Given the description of an element on the screen output the (x, y) to click on. 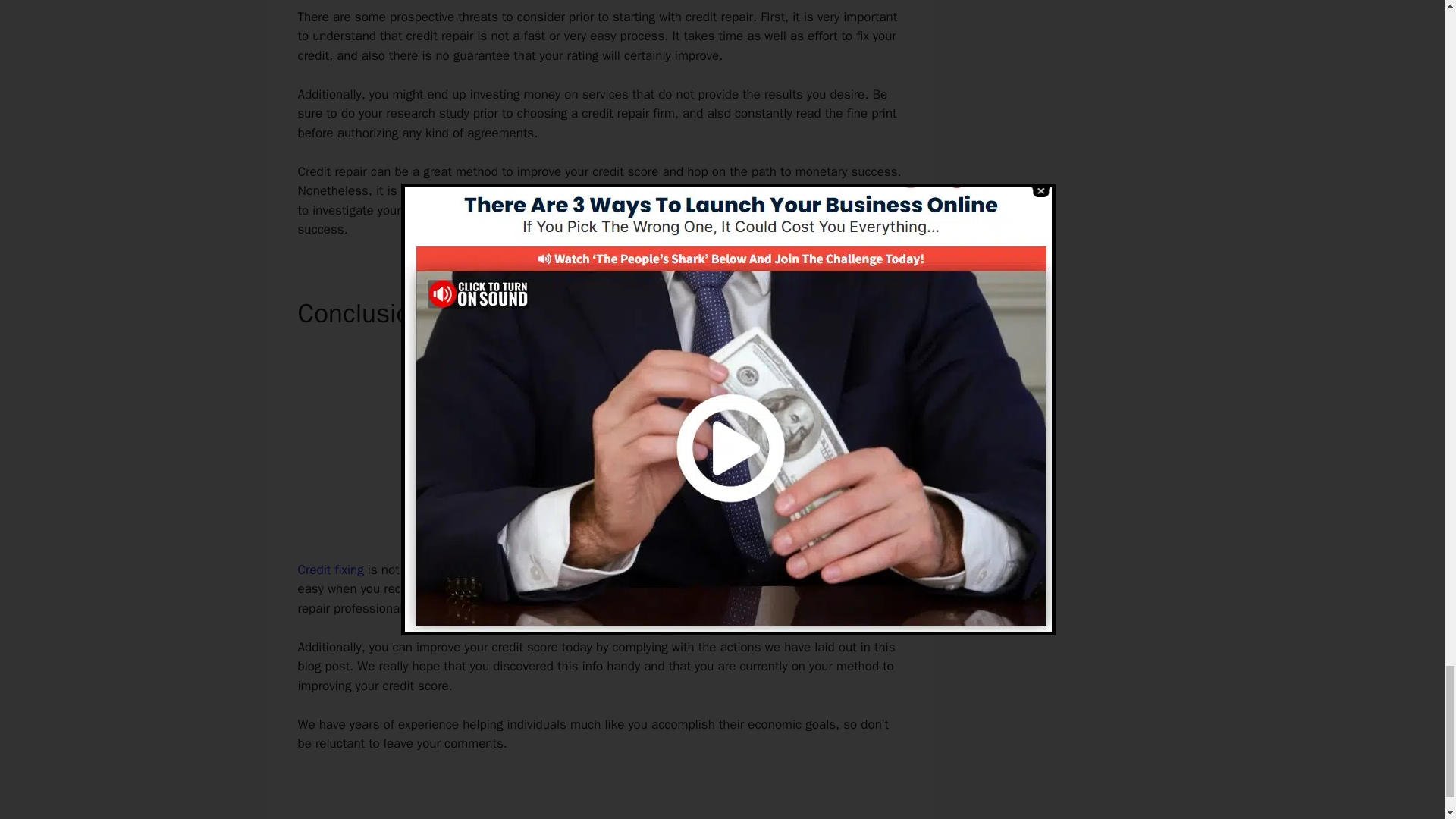
Credit fixing (329, 569)
